Given the description of an element on the screen output the (x, y) to click on. 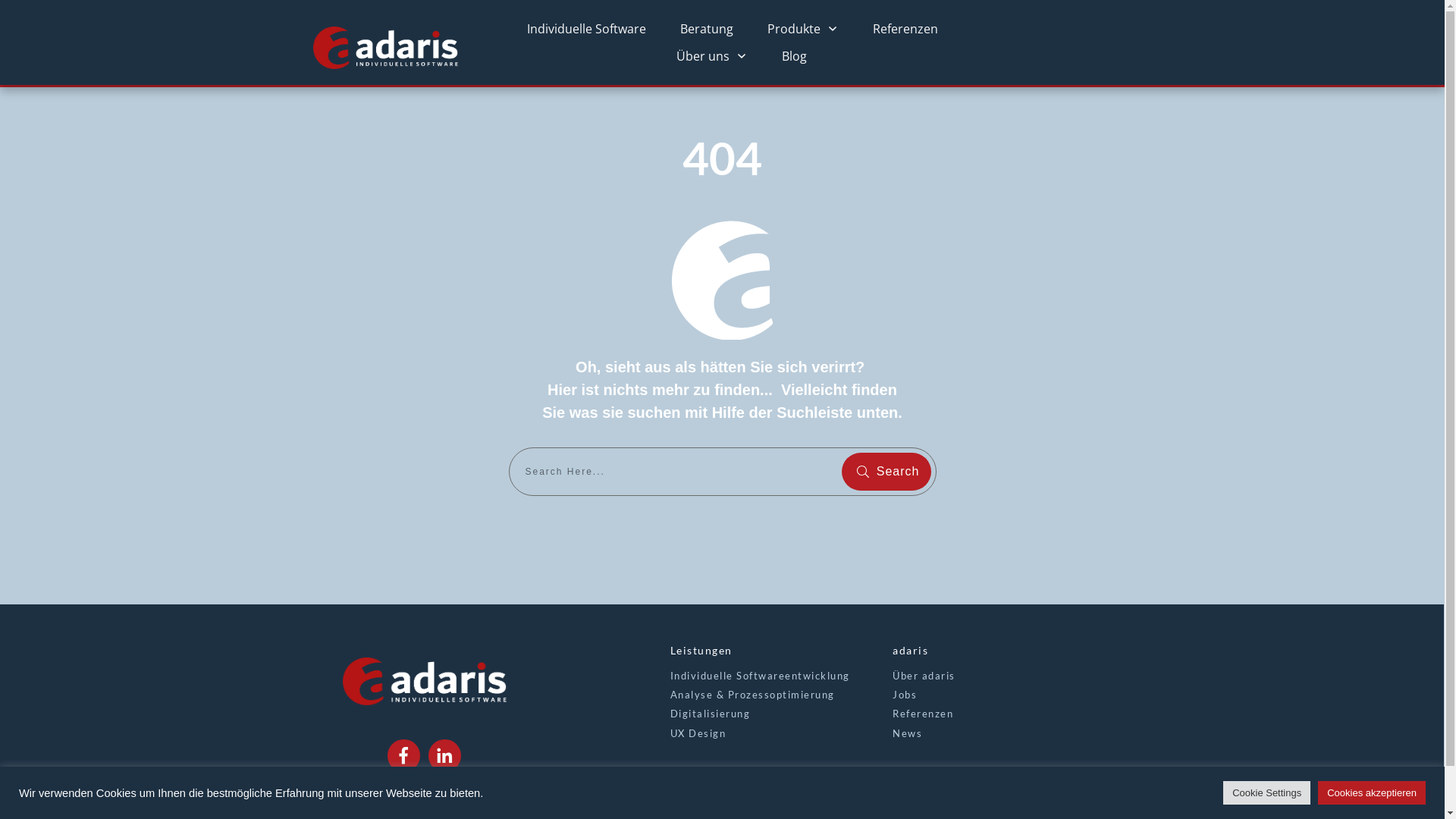
Datenschutz Element type: text (464, 799)
Search Element type: text (886, 471)
Blog Element type: text (793, 55)
Referenzen Element type: text (922, 713)
Jobs Element type: text (904, 694)
Individuelle Softwareentwicklung Element type: text (760, 675)
Digitalisierung Element type: text (710, 713)
Produkte Element type: text (802, 28)
Beratung Element type: text (706, 28)
Impressum Element type: text (388, 799)
Cookies akzeptieren Element type: text (1371, 792)
Cookie Settings Element type: text (1266, 792)
Individuelle Software Element type: text (586, 28)
Referenzen Element type: text (905, 28)
Analyse & Prozessoptimierung Element type: text (752, 694)
adaris-a-weiss Element type: hover (721, 279)
News Element type: text (907, 733)
UX Design Element type: text (698, 733)
